Given the description of an element on the screen output the (x, y) to click on. 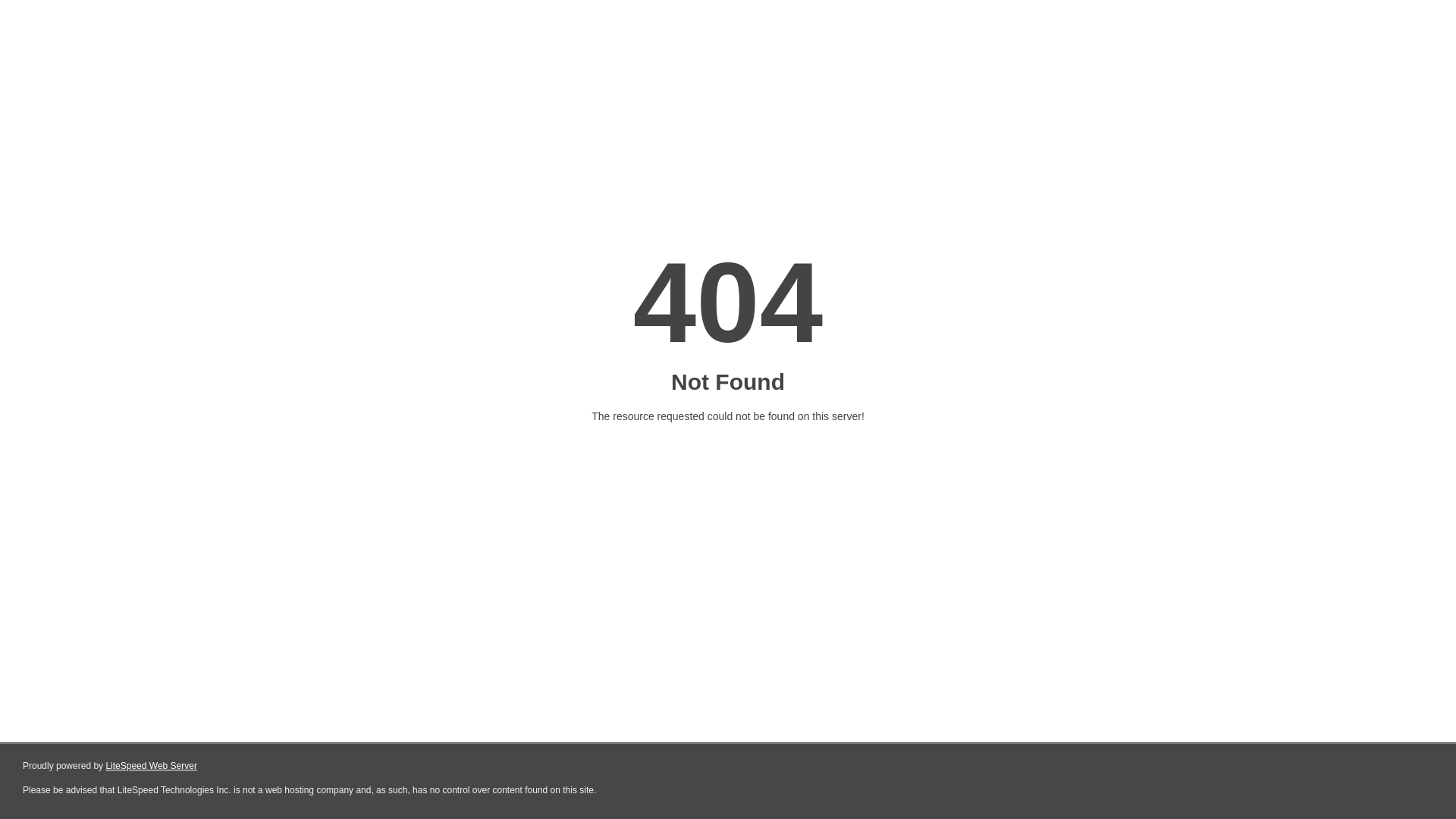
LiteSpeed Web Server Element type: text (151, 765)
